Given the description of an element on the screen output the (x, y) to click on. 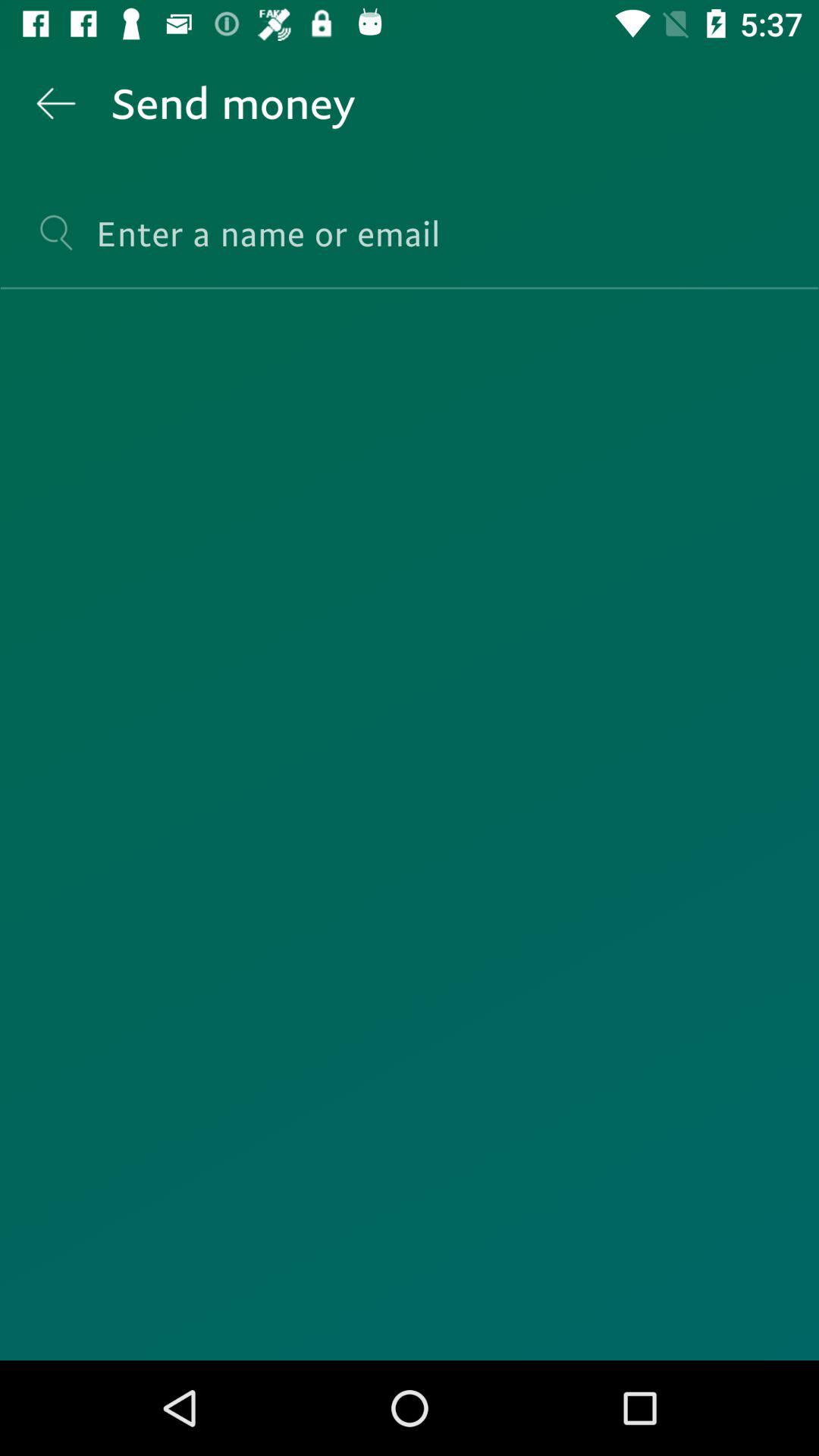
tap the item at the top left corner (55, 103)
